Given the description of an element on the screen output the (x, y) to click on. 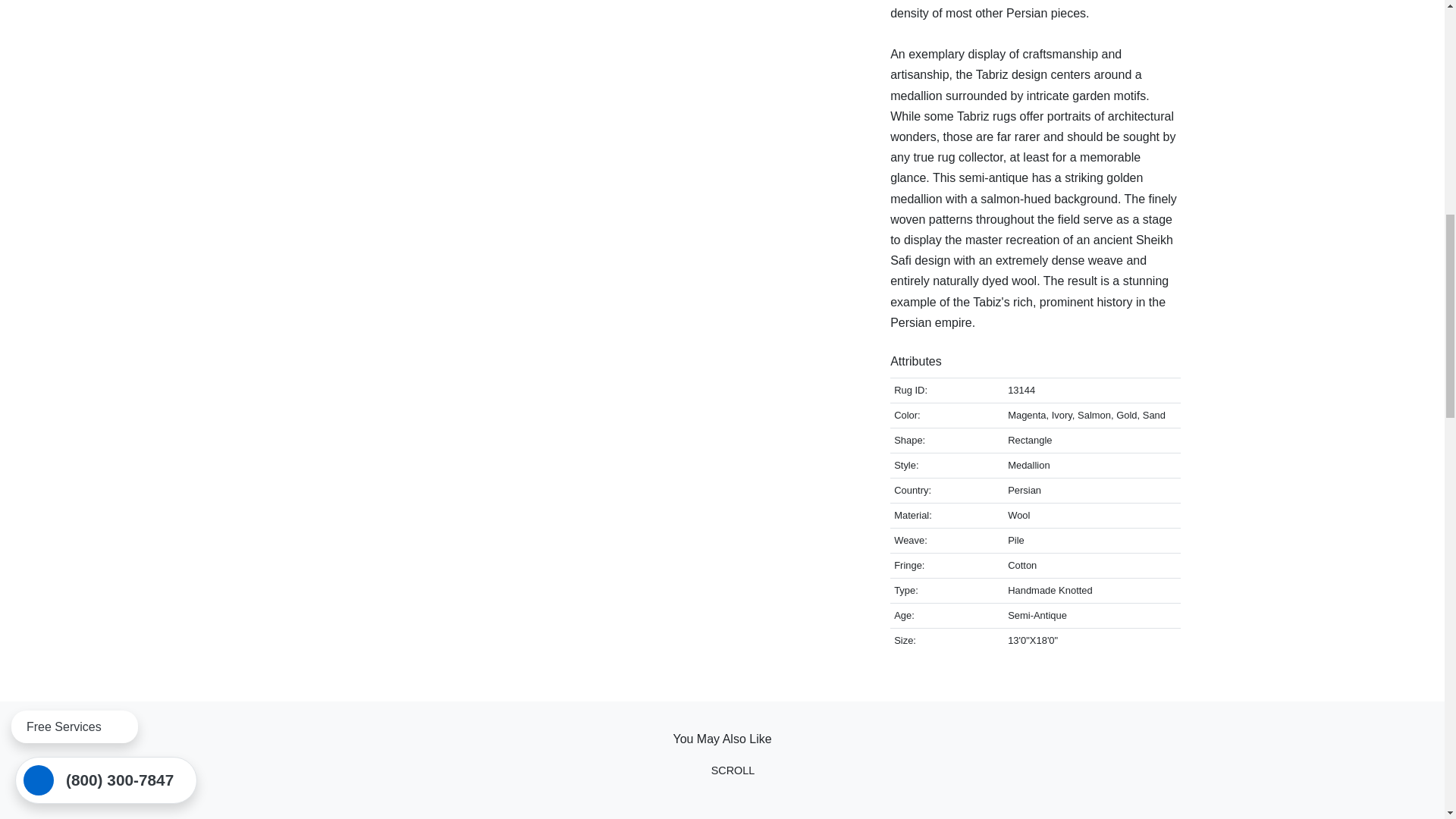
SCROLL (722, 779)
